Given the description of an element on the screen output the (x, y) to click on. 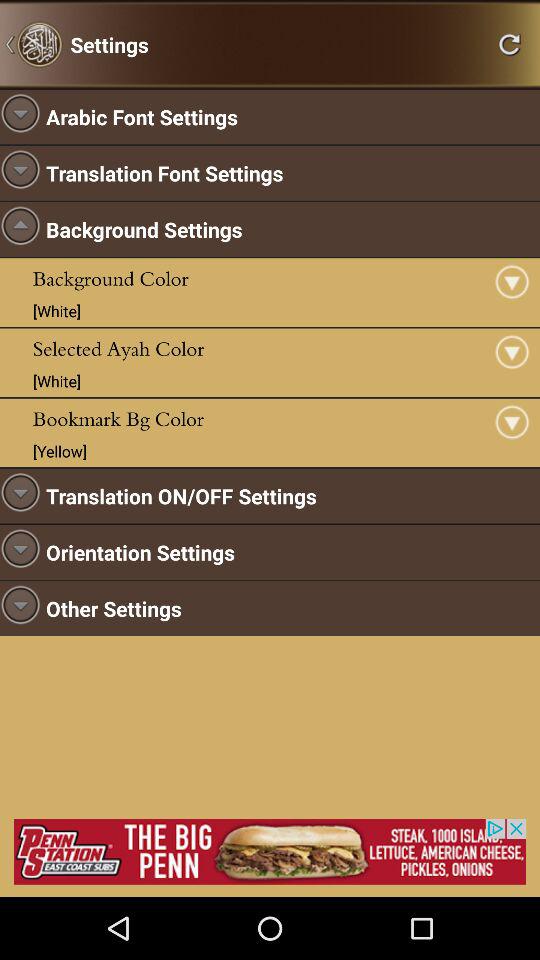
advertisement area (270, 851)
